Given the description of an element on the screen output the (x, y) to click on. 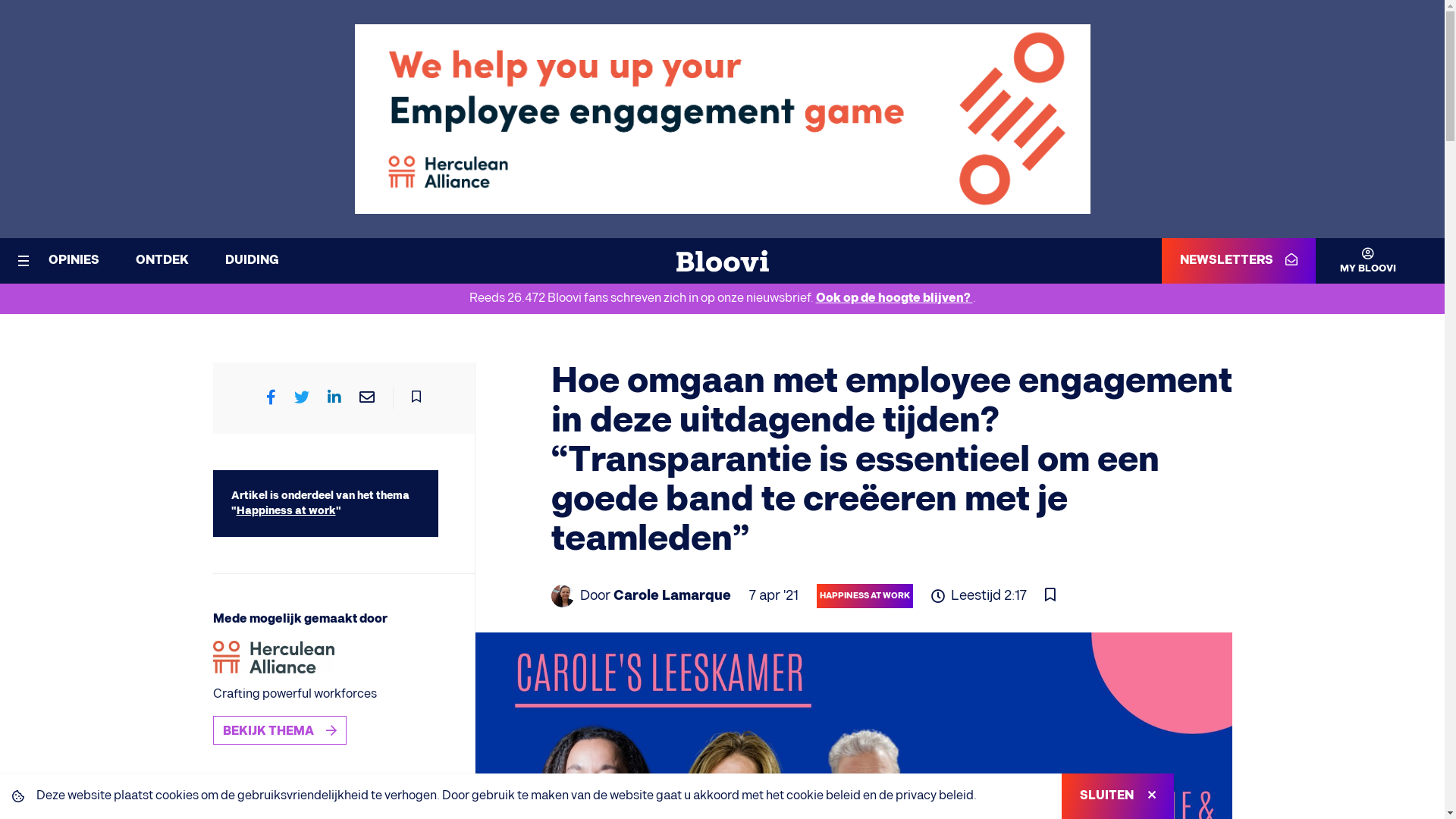
Carole Lamarque Element type: hover (561, 595)
MY BLOOVI Element type: text (1355, 260)
HAPPINESS AT WORK Element type: text (863, 595)
cookie beleid Element type: text (823, 795)
privacy beleid Element type: text (934, 795)
Happiness at work Element type: text (285, 510)
OPINIES Element type: text (73, 260)
ONTDEK Element type: text (161, 260)
Ook op de hoogte blijven? Element type: text (893, 298)
NEWSLETTERS Element type: text (1238, 260)
Carole Lamarque Element type: text (671, 595)
DUIDING Element type: text (251, 260)
BEKIJK THEMA Element type: text (278, 729)
